Given the description of an element on the screen output the (x, y) to click on. 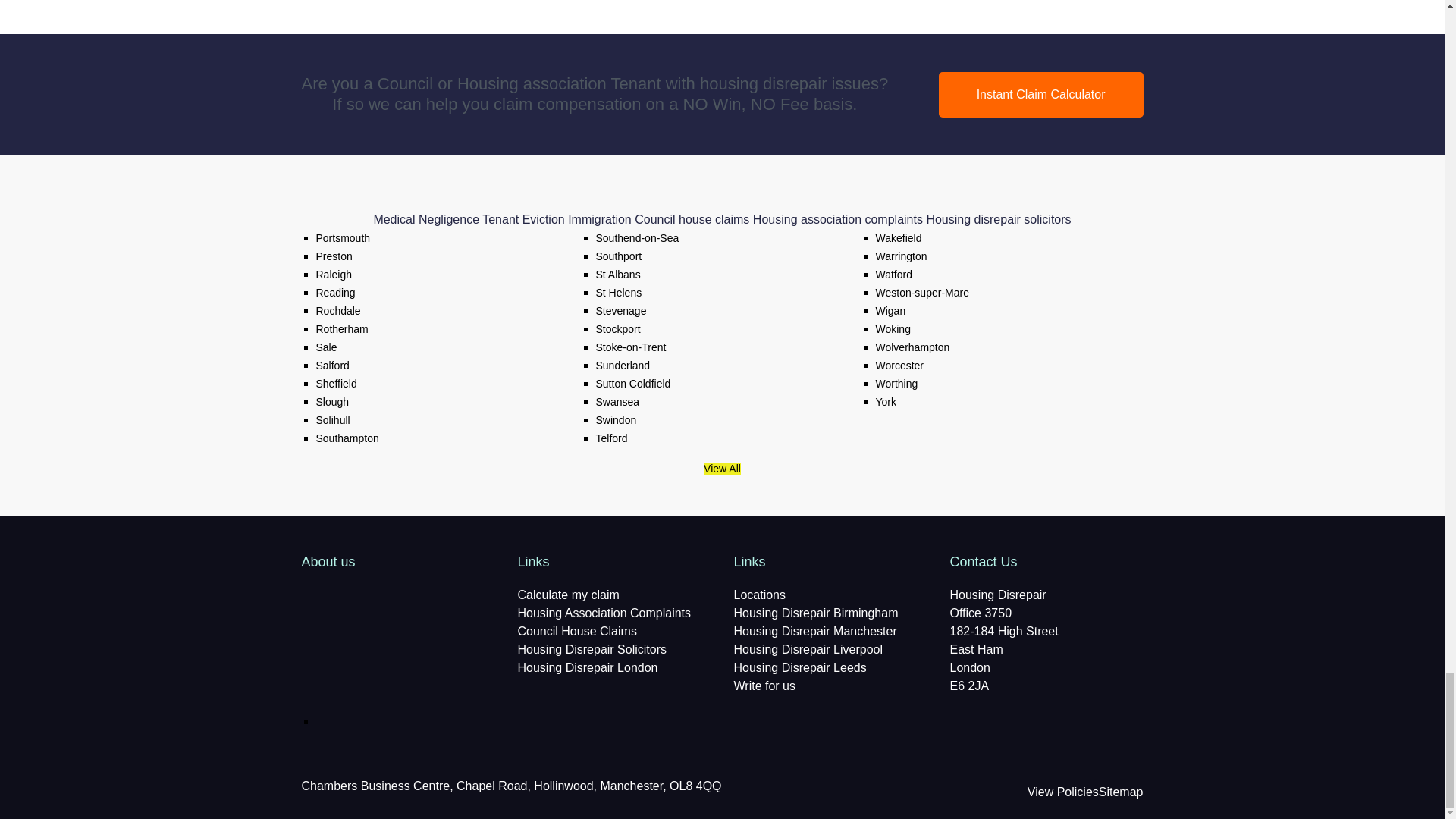
Instant Claim Calculator (1040, 94)
